Given the description of an element on the screen output the (x, y) to click on. 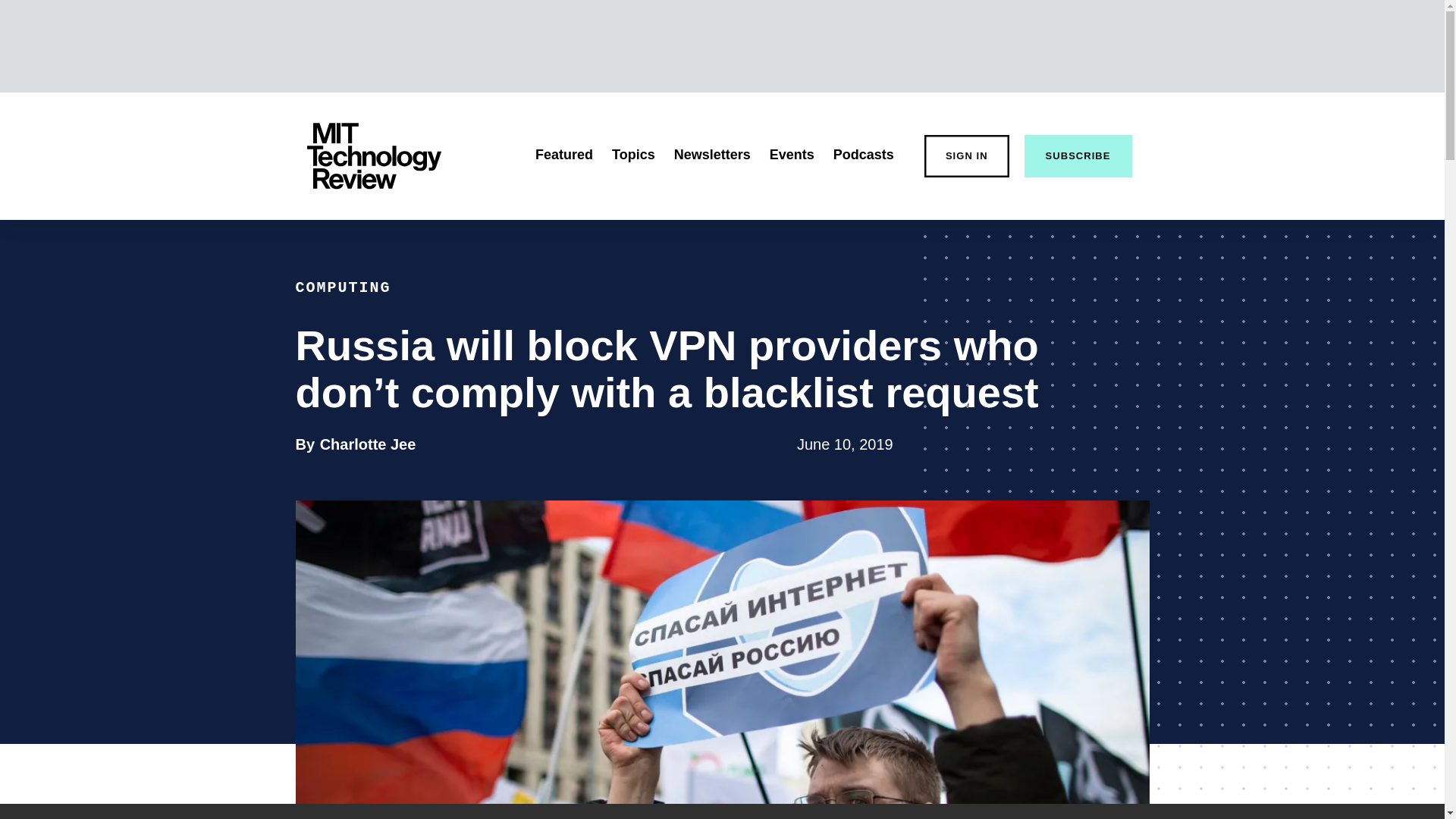
Podcasts (862, 154)
Newsletters (368, 443)
SUBSCRIBE (712, 154)
Events (1078, 156)
COMPUTING (791, 154)
Topics (343, 287)
MIT Technology Review (633, 154)
Featured (373, 155)
SIGN IN (563, 154)
